Given the description of an element on the screen output the (x, y) to click on. 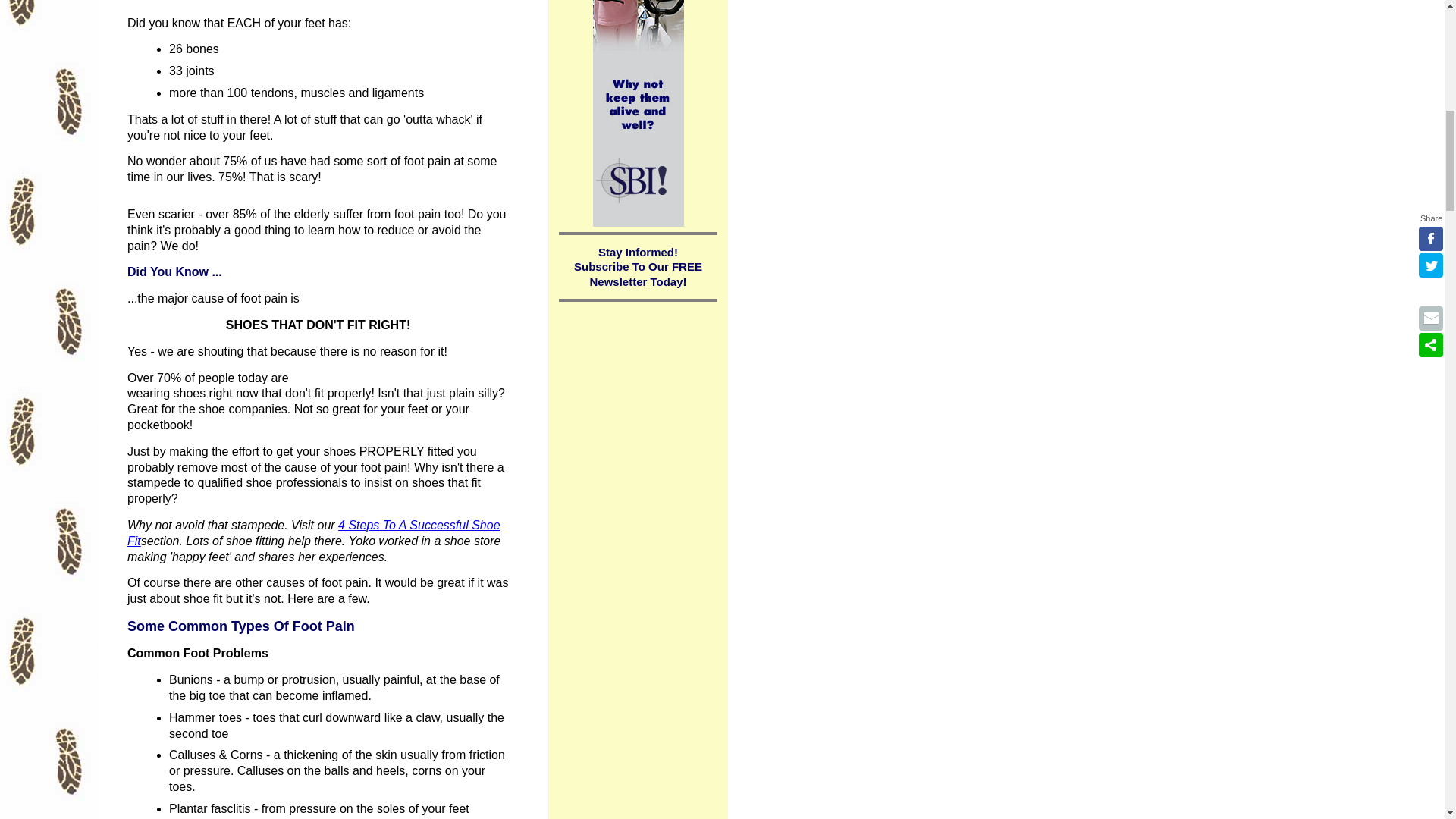
4 Steps To A Successful Shoe Fit (314, 532)
